Given the description of an element on the screen output the (x, y) to click on. 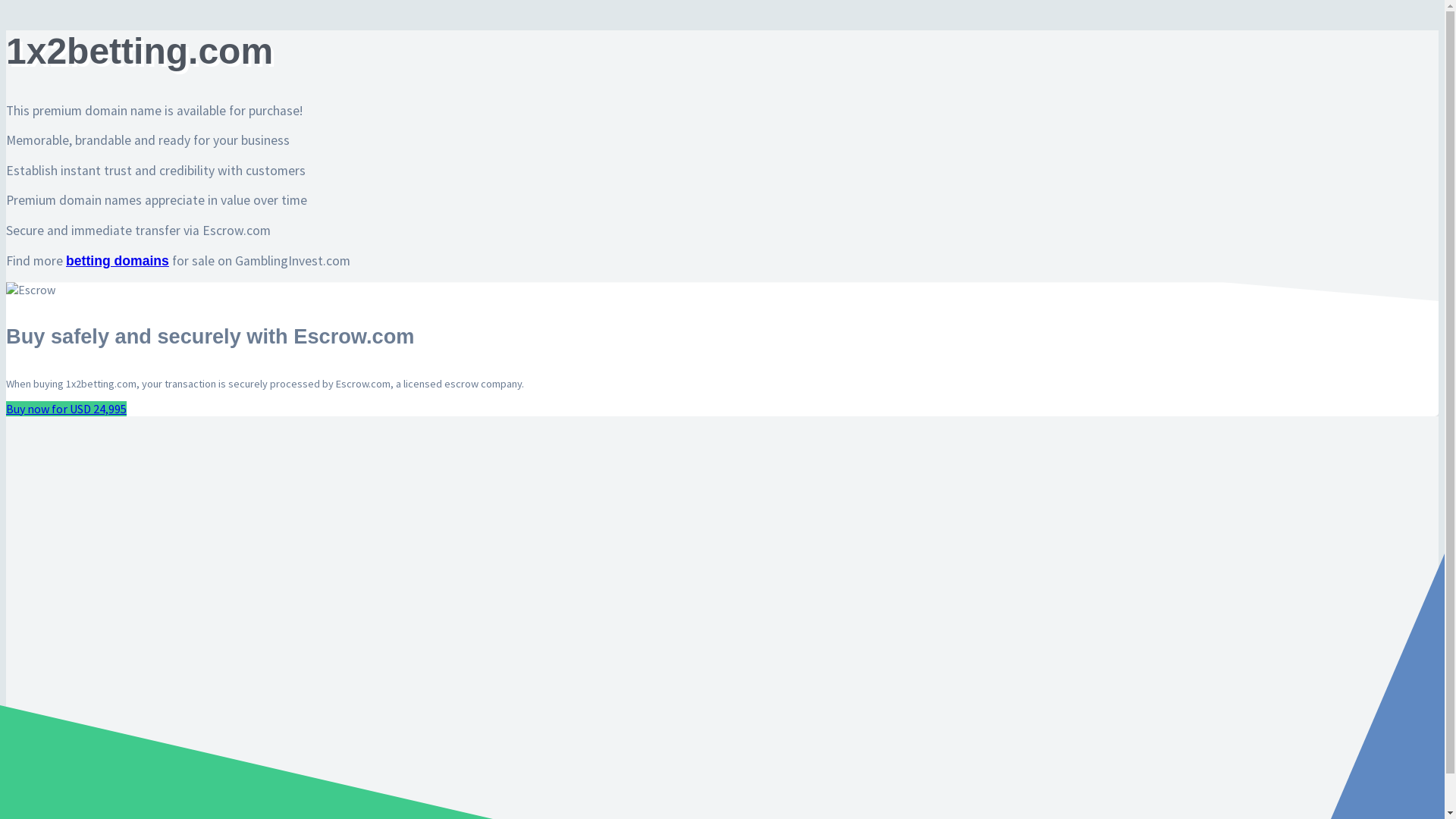
Buy now for USD 24,995 Element type: text (66, 408)
betting domains Element type: text (117, 260)
